Given the description of an element on the screen output the (x, y) to click on. 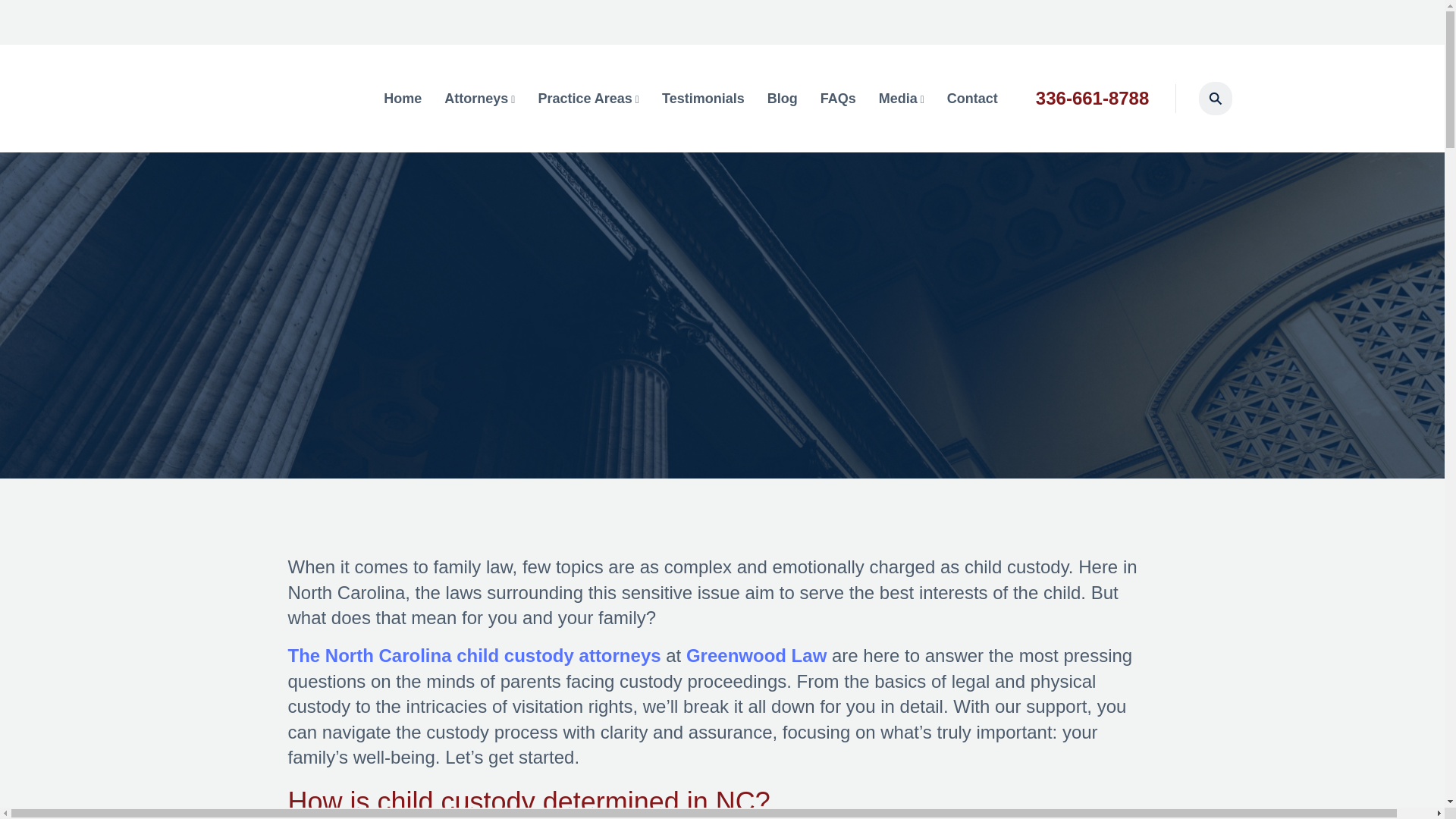
Greenwood Law (756, 655)
Media (901, 98)
Practice Areas (588, 98)
336-661-8788 (1091, 97)
The North Carolina child custody attorneys (474, 655)
Financing (1224, 28)
Blog (782, 98)
Greenwood Law (756, 655)
Home (403, 98)
Testimonials (703, 98)
Attorneys (479, 98)
FAQs (838, 98)
Contact (972, 98)
